Given the description of an element on the screen output the (x, y) to click on. 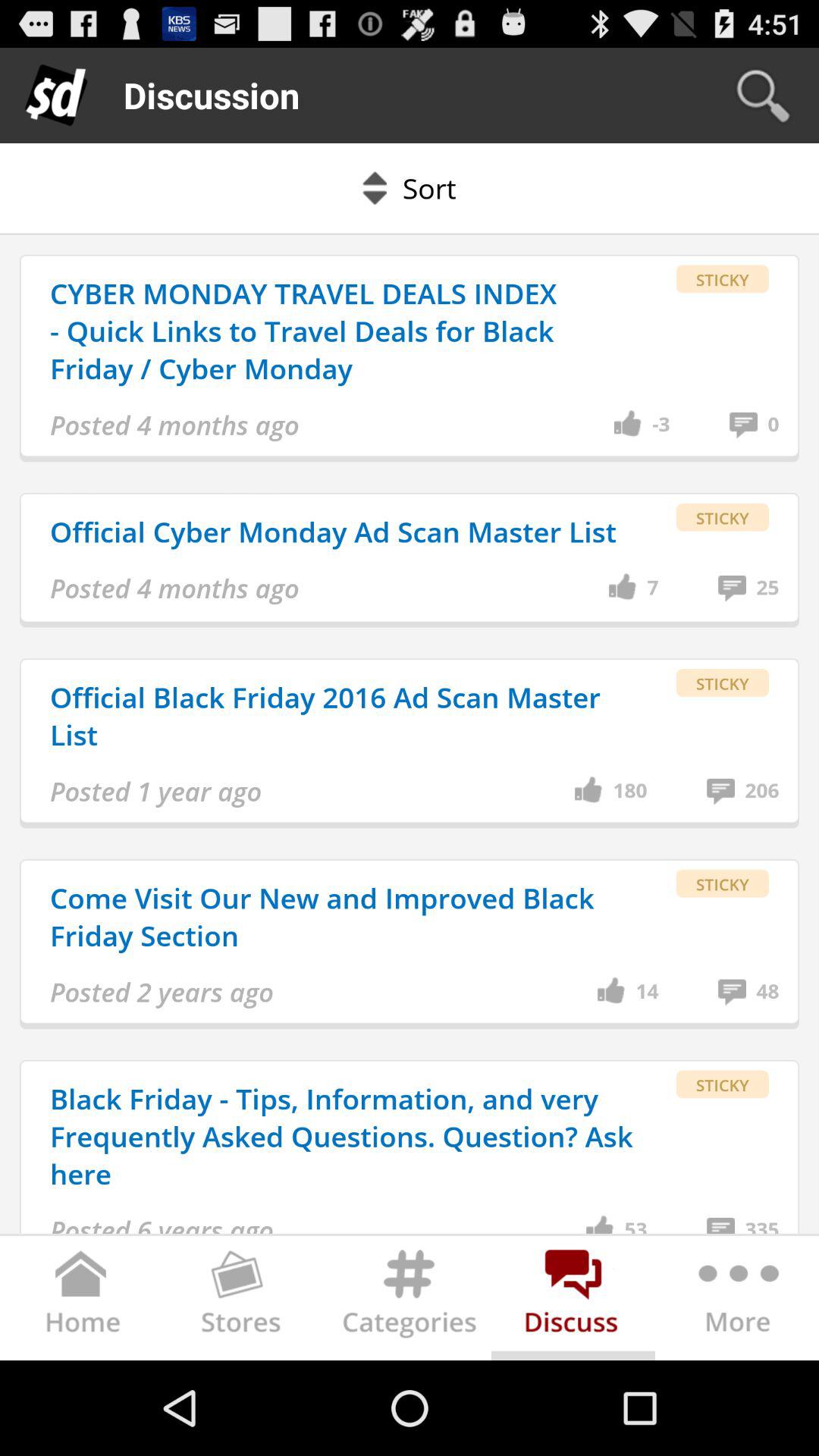
choose the 0 item (773, 425)
